Given the description of an element on the screen output the (x, y) to click on. 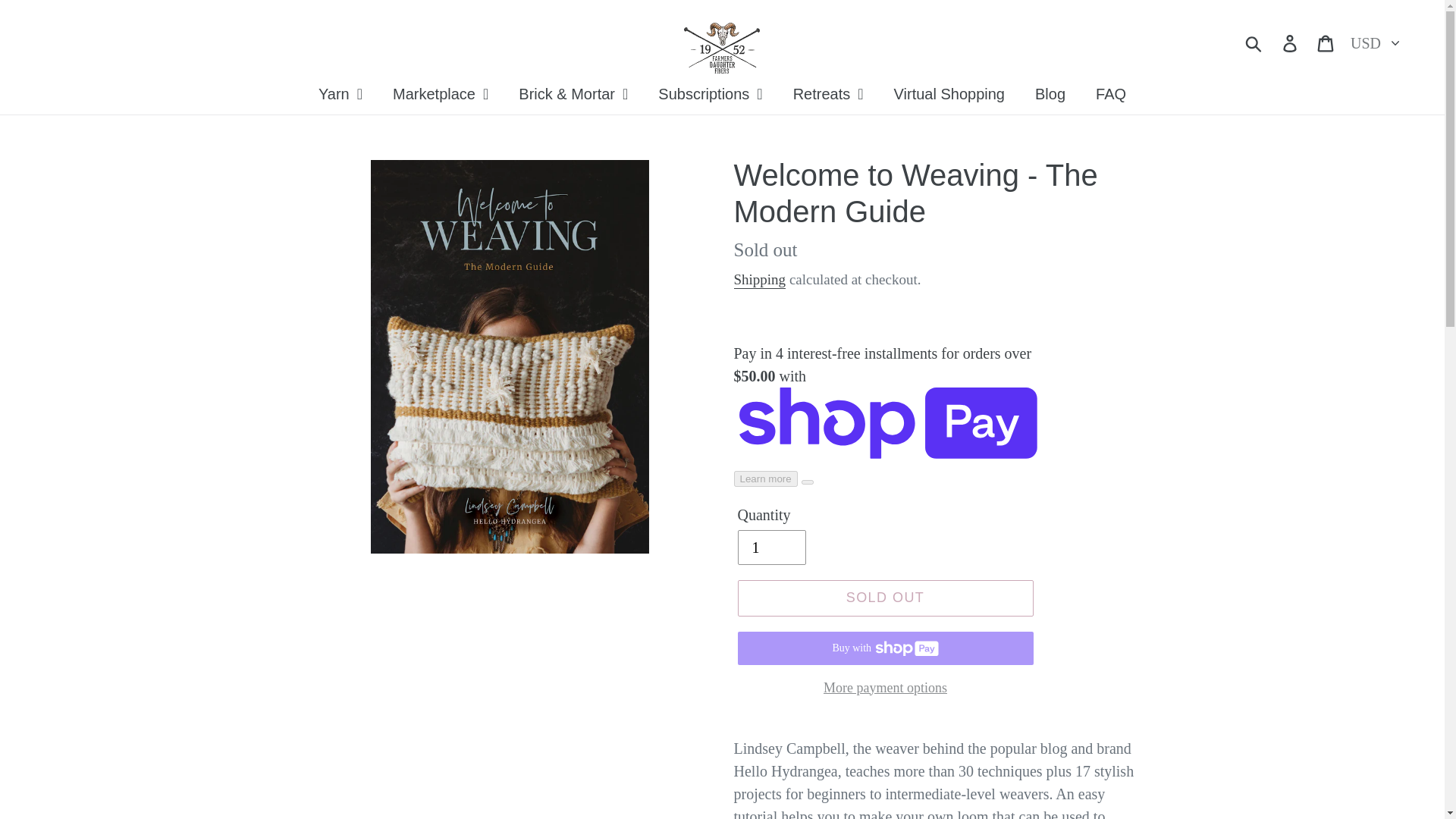
Submit (1254, 41)
Cart (1325, 41)
1 (770, 547)
Log in (1290, 41)
